Given the description of an element on the screen output the (x, y) to click on. 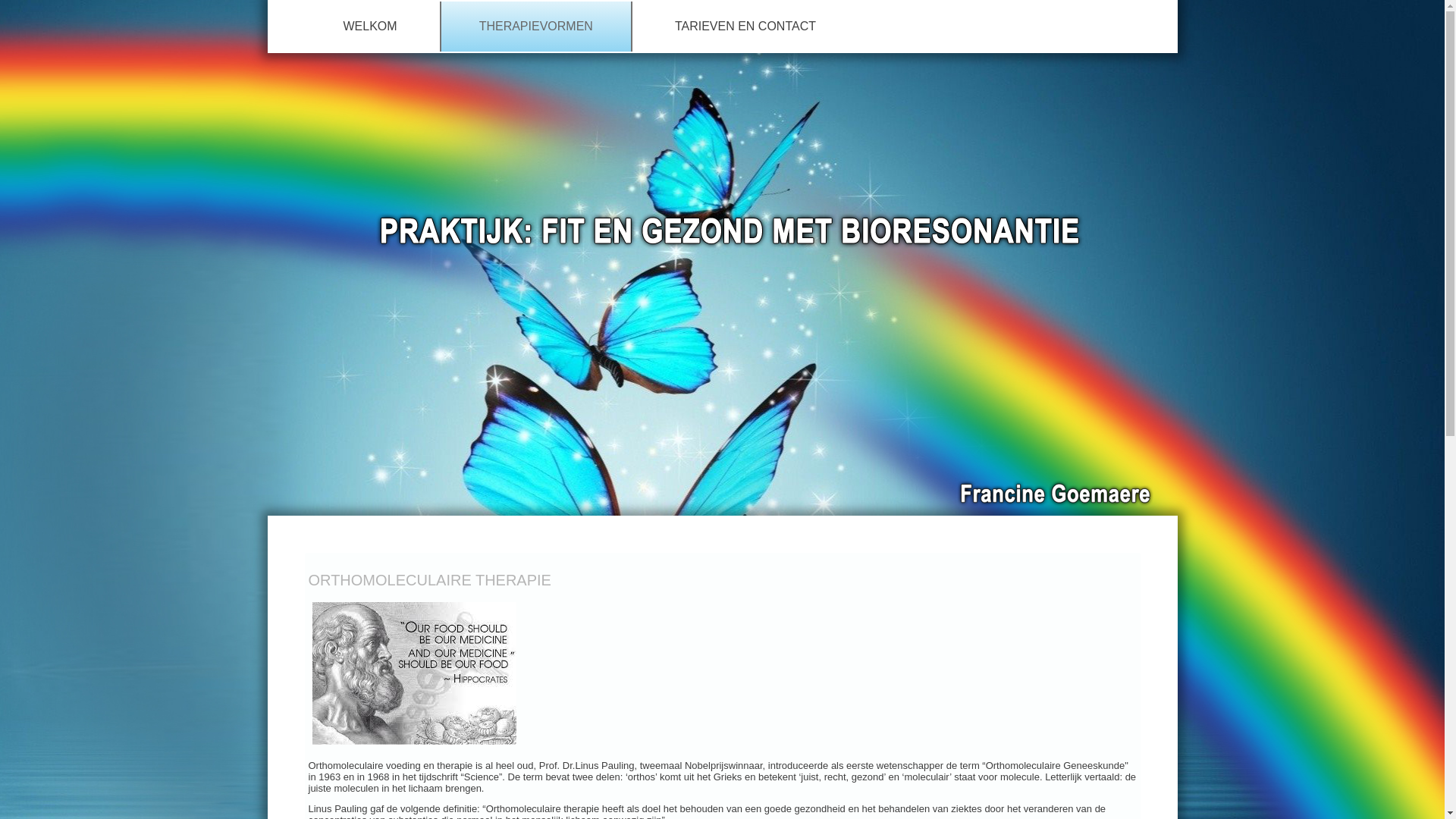
TARIEVEN EN CONTACT Element type: text (745, 26)
WELKOM Element type: text (369, 26)
THERAPIEVORMEN Element type: text (535, 26)
